Given the description of an element on the screen output the (x, y) to click on. 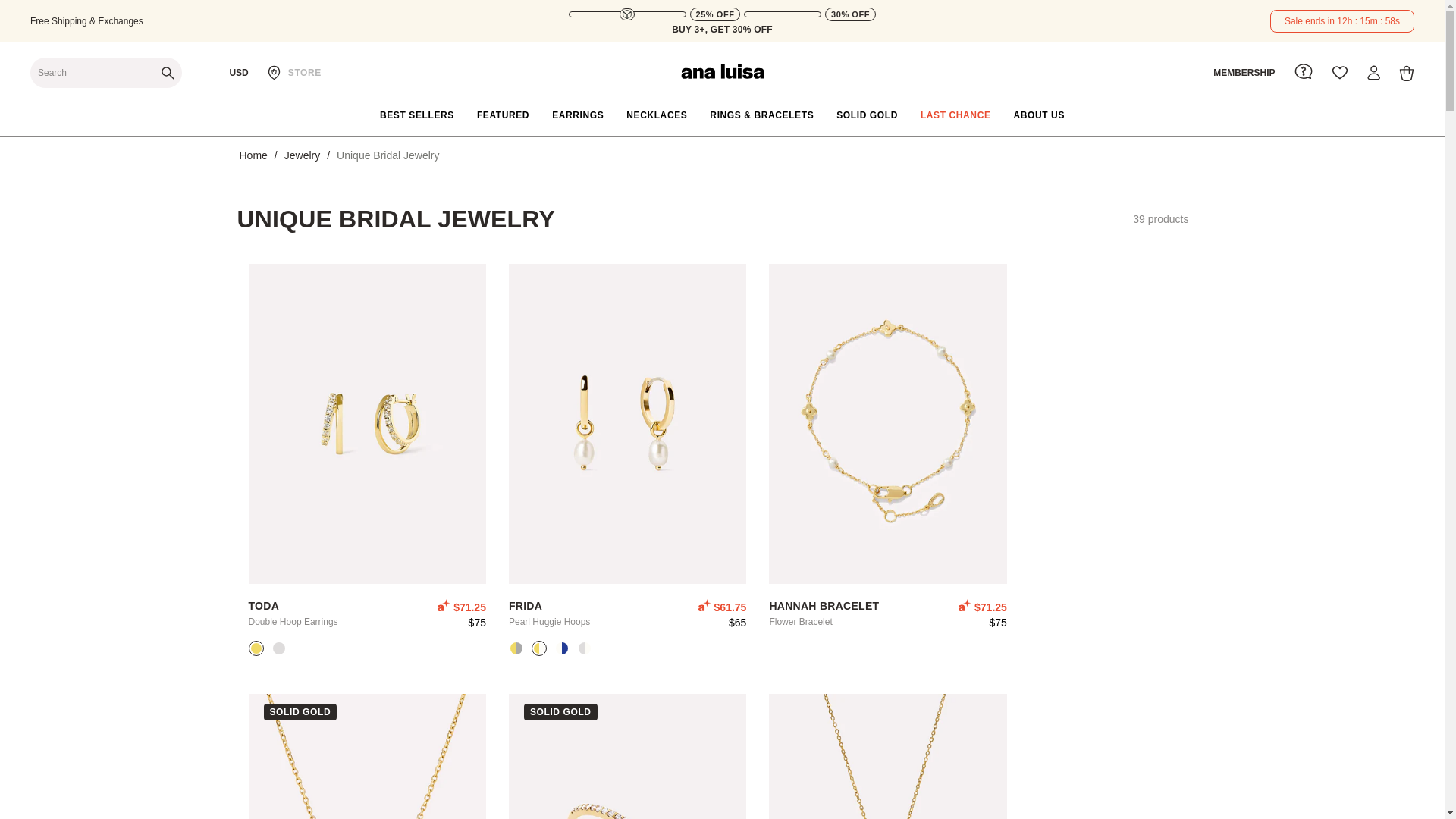
BEST SELLERS (417, 114)
Gold (255, 647)
Marble Blue (561, 648)
Search (106, 72)
Wishlist (1340, 72)
STORE (294, 72)
Silver (279, 648)
